Given the description of an element on the screen output the (x, y) to click on. 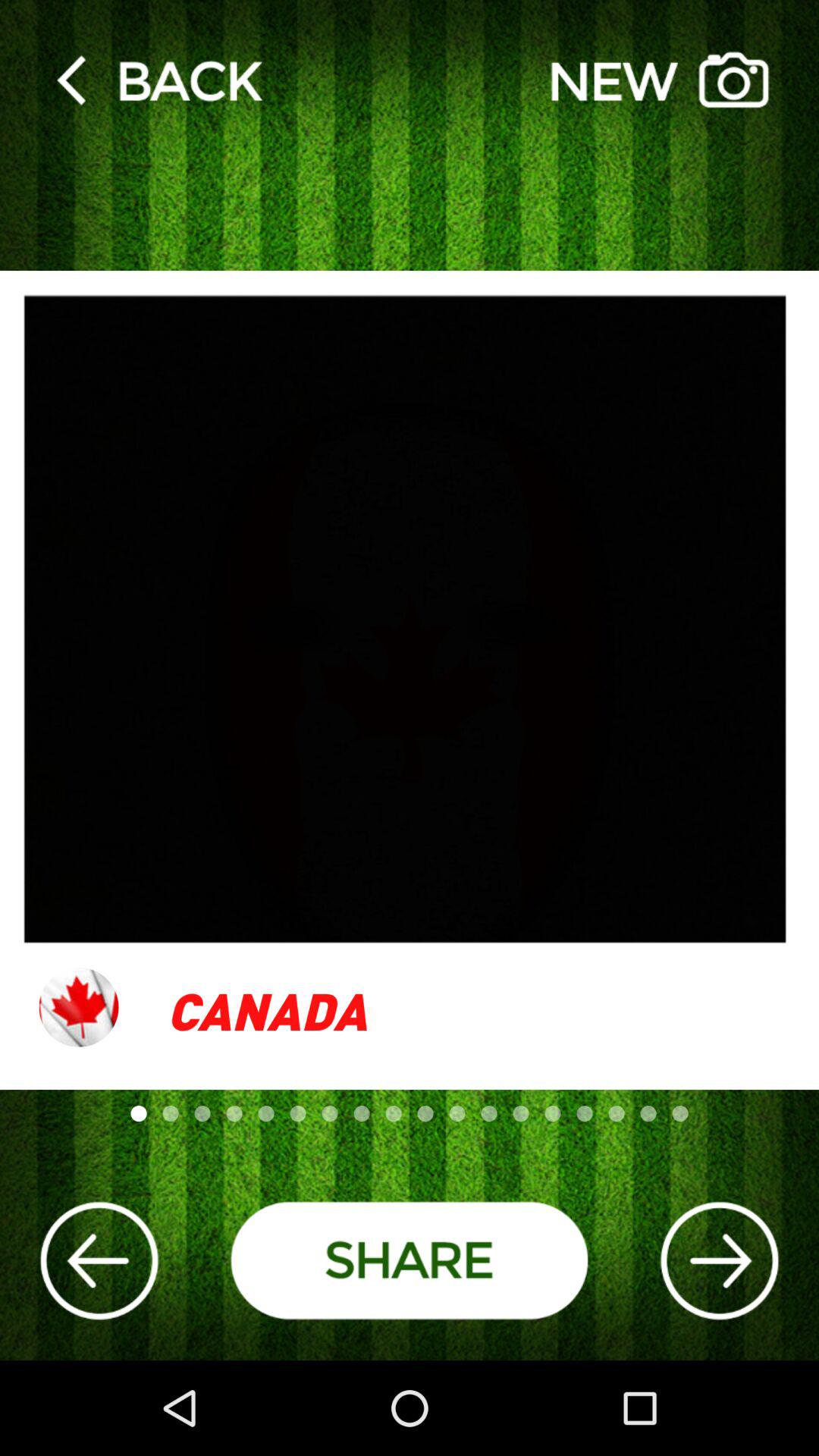
go back (158, 79)
